Given the description of an element on the screen output the (x, y) to click on. 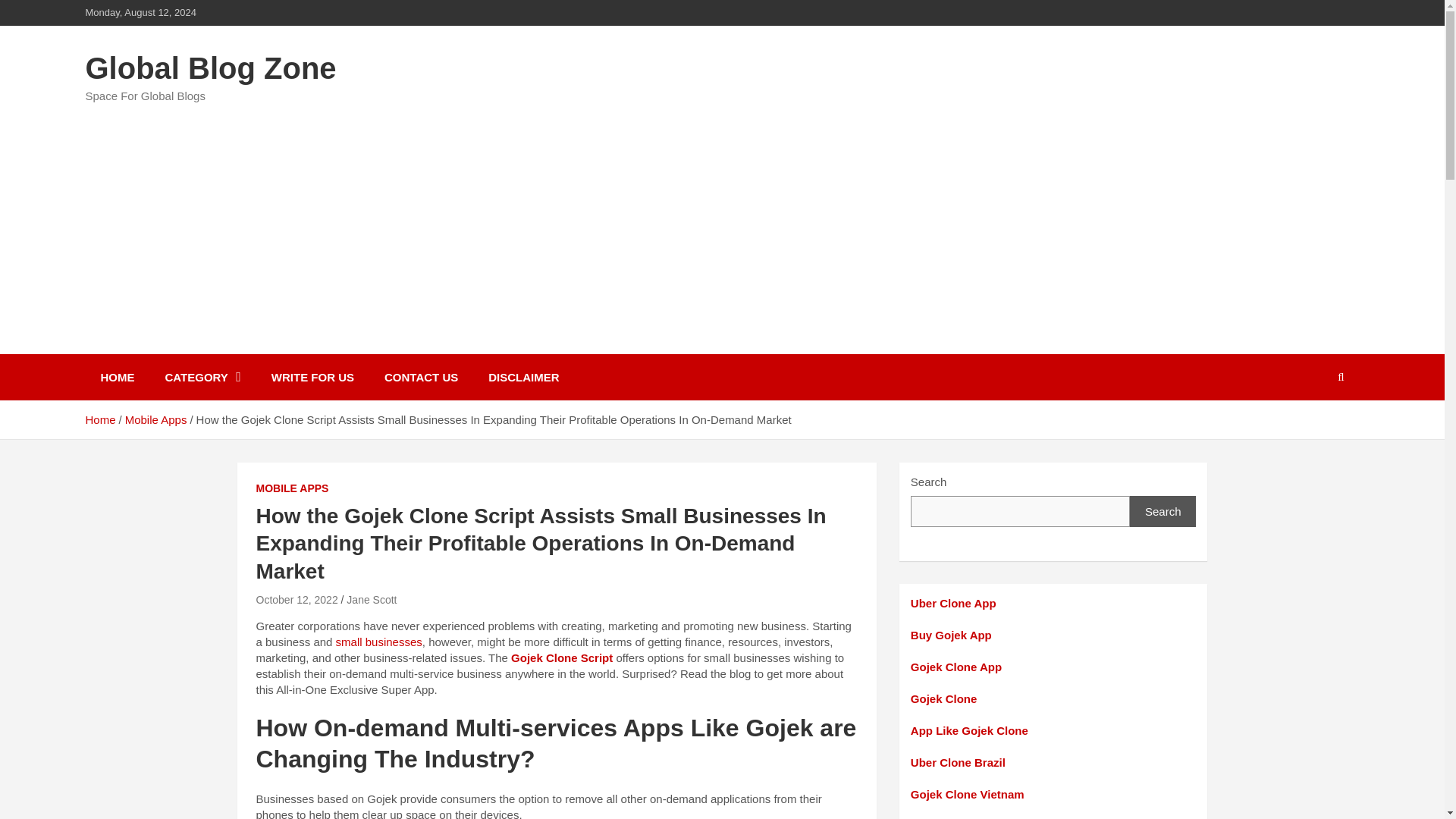
DISCLAIMER (523, 376)
WRITE FOR US (312, 376)
CONTACT US (421, 376)
CATEGORY (202, 376)
MOBILE APPS (292, 488)
small businesses (379, 641)
Global Blog Zone (210, 68)
Home (99, 419)
HOME (116, 376)
